Given the description of an element on the screen output the (x, y) to click on. 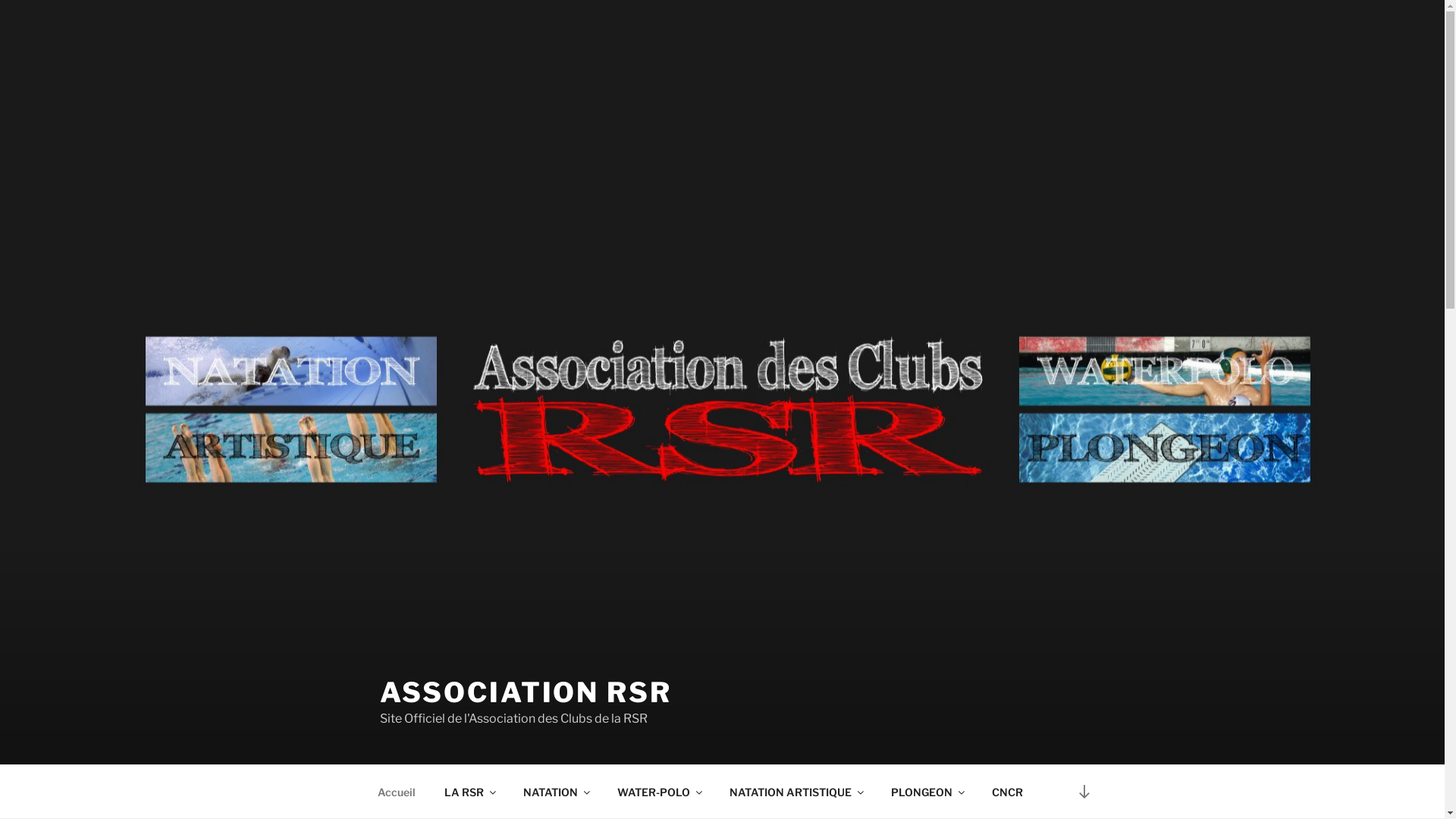
NATATION Element type: text (555, 791)
Descendre au contenu Element type: text (1083, 790)
WATER-POLO Element type: text (658, 791)
Aller au contenu principal Element type: text (0, 0)
Accueil Element type: text (396, 791)
PLONGEON Element type: text (927, 791)
CNCR Element type: text (1006, 791)
ASSOCIATION RSR Element type: text (525, 692)
NATATION ARTISTIQUE Element type: text (795, 791)
LA RSR Element type: text (468, 791)
